Given the description of an element on the screen output the (x, y) to click on. 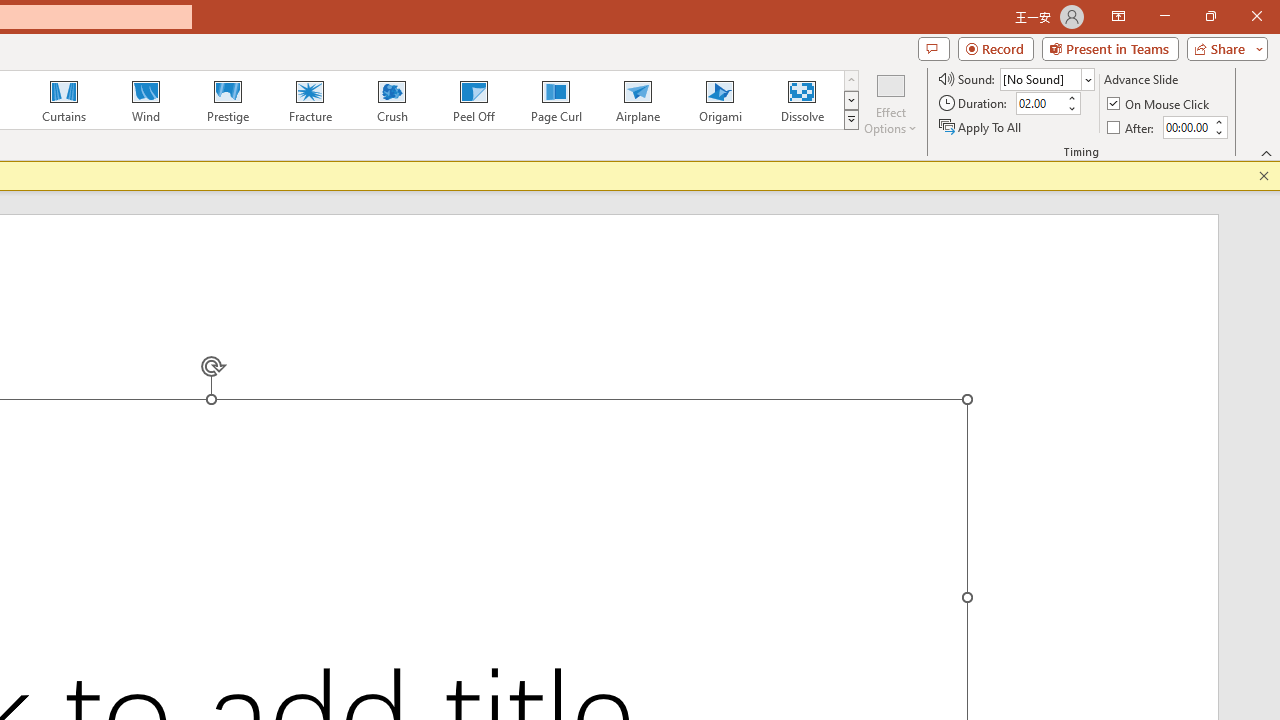
Page Curl (555, 100)
After (1131, 126)
Airplane (637, 100)
Dissolve (802, 100)
Effect Options (890, 102)
Transition Effects (850, 120)
Close this message (1263, 176)
Apply To All (981, 126)
